Given the description of an element on the screen output the (x, y) to click on. 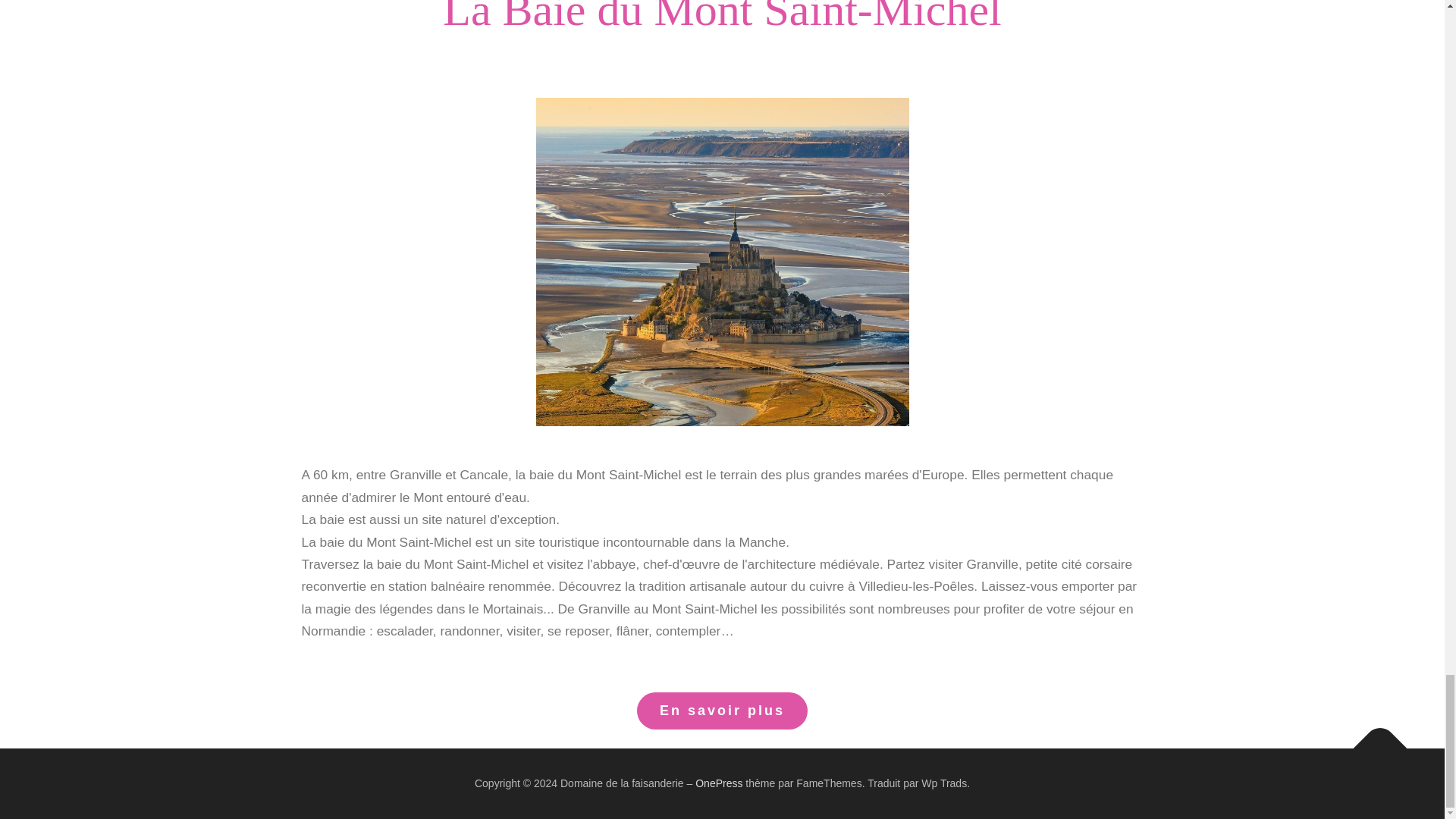
En savoir plus (722, 710)
OnePress (718, 783)
Retour en haut (1372, 740)
